Given the description of an element on the screen output the (x, y) to click on. 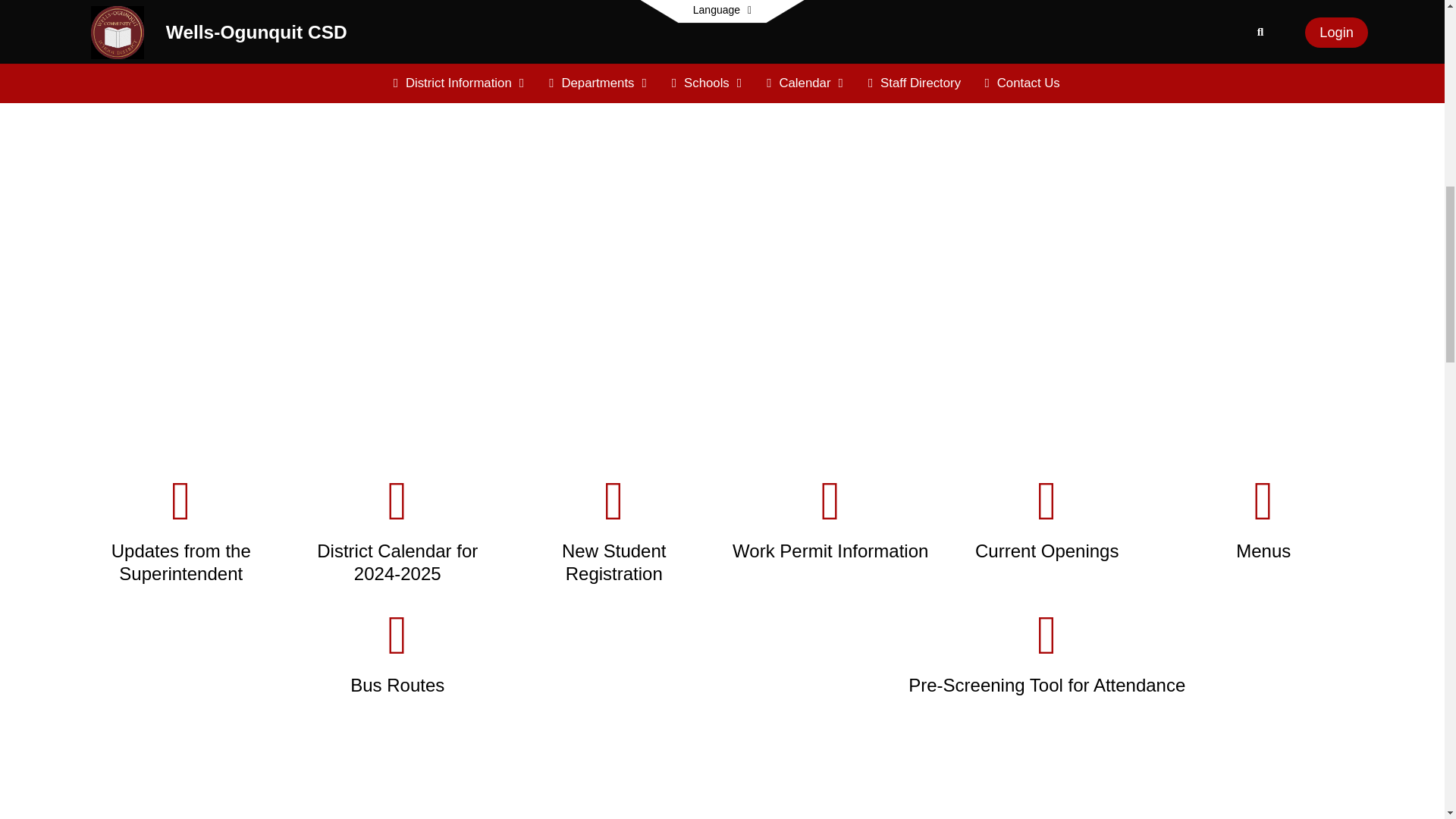
Menus (1264, 518)
Bus Routes (397, 652)
Pre-Screening Tool for Attendance (1046, 652)
Current Openings (1047, 518)
Updates from the Superintendent (181, 529)
Work Permit Information (830, 518)
New Student Registration (613, 529)
District Calendar for 2024-2025 (398, 529)
